Given the description of an element on the screen output the (x, y) to click on. 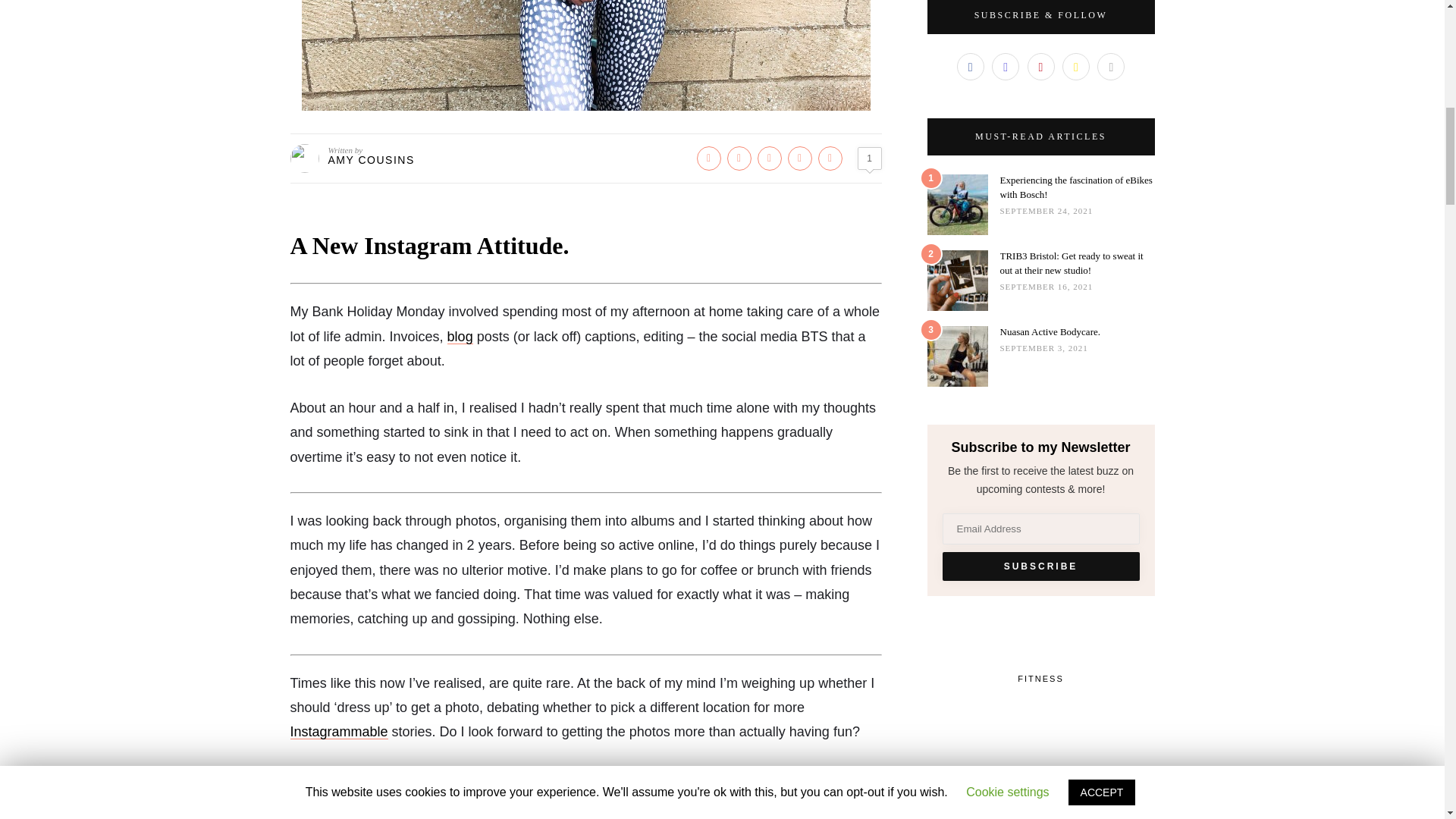
Posts by Amy Cousins (370, 159)
Subscribe (1040, 566)
